Given the description of an element on the screen output the (x, y) to click on. 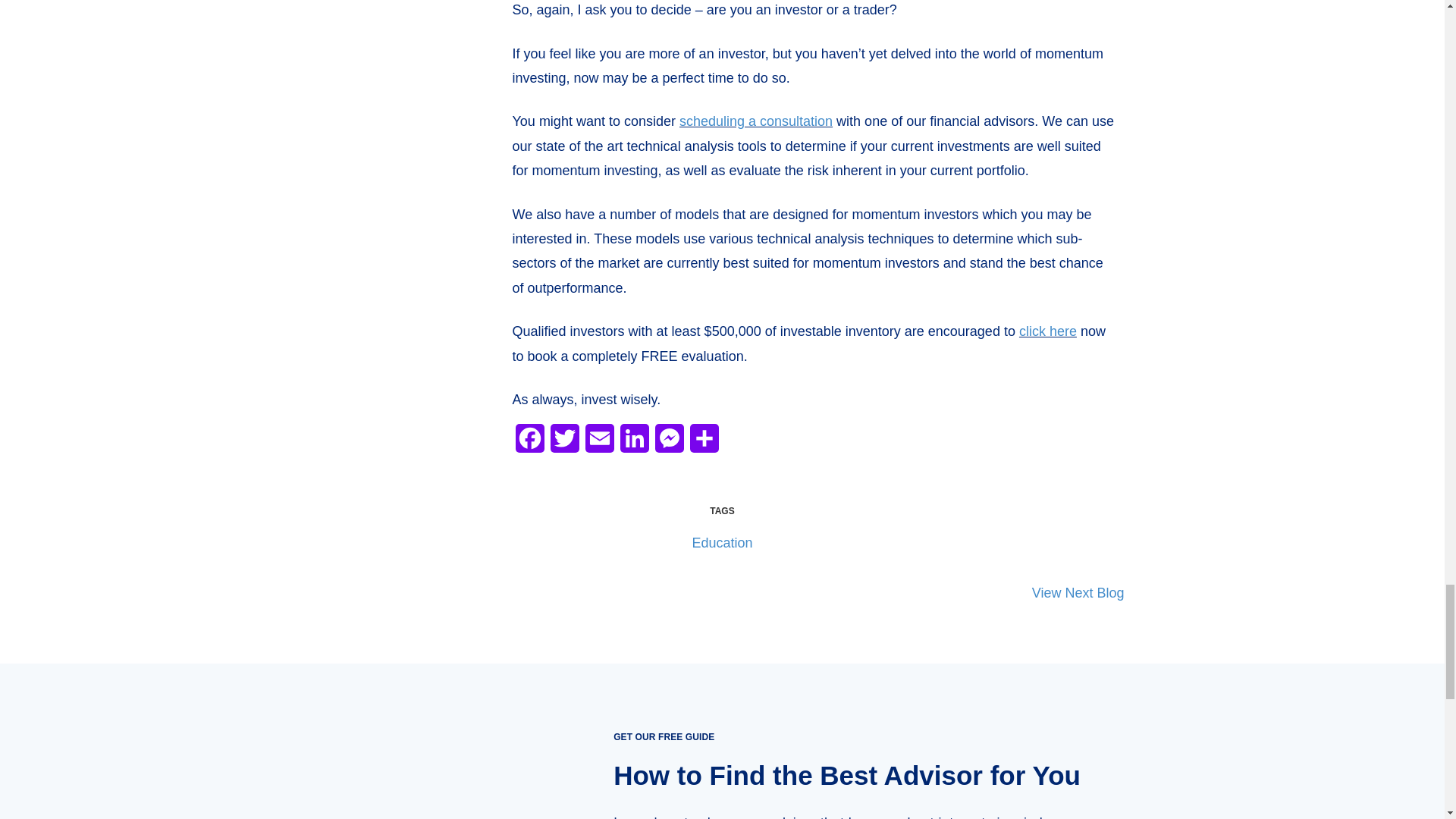
Facebook (529, 443)
Messenger (669, 443)
LinkedIn (634, 443)
scheduling a consultation (755, 120)
View Next Blog (1078, 592)
Messenger (669, 443)
Twitter (564, 443)
Email (599, 443)
Education (721, 542)
LinkedIn (634, 443)
Facebook (529, 443)
Email (599, 443)
click here (1048, 331)
Twitter (564, 443)
